Given the description of an element on the screen output the (x, y) to click on. 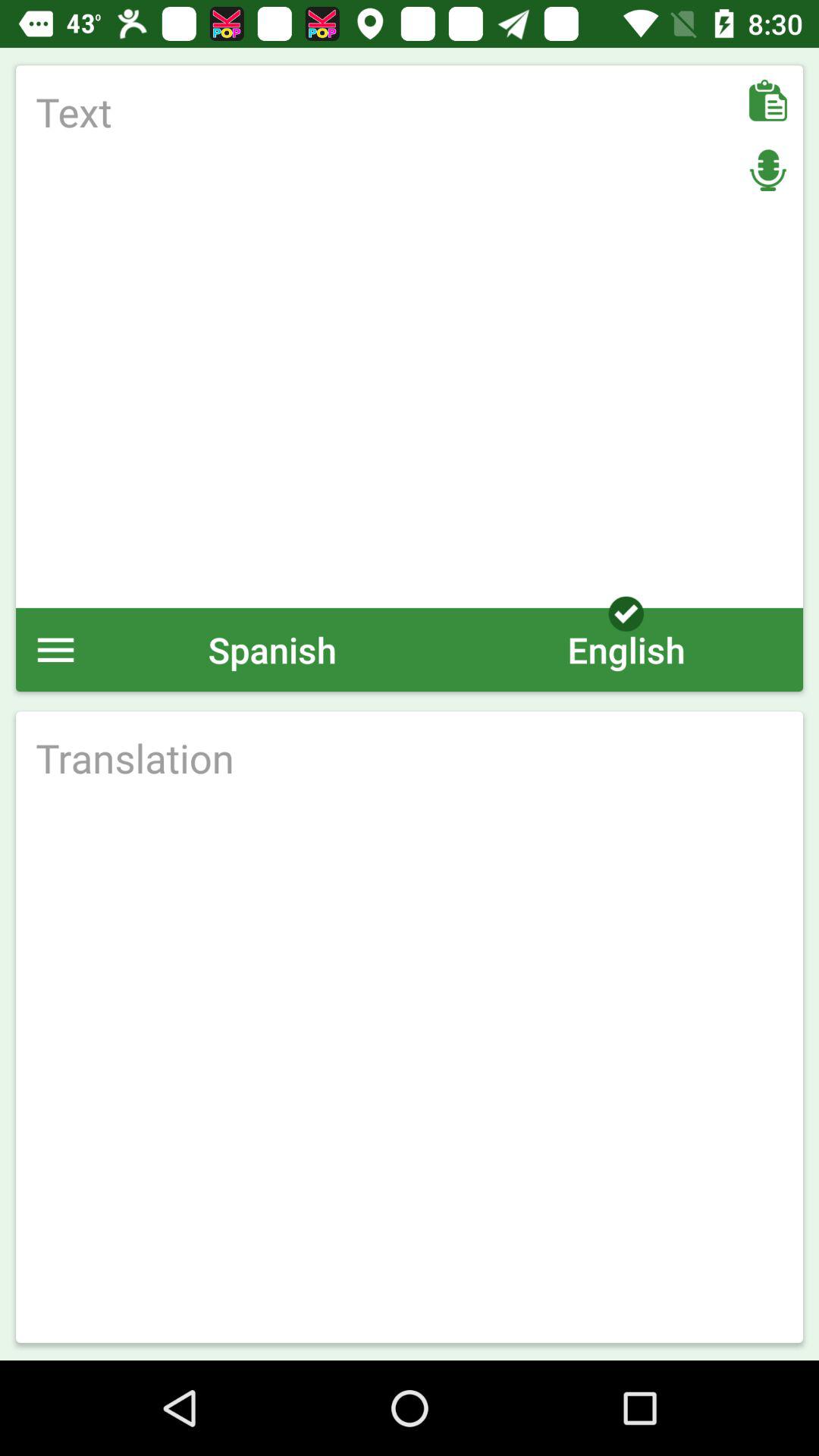
input text to translate (409, 336)
